Given the description of an element on the screen output the (x, y) to click on. 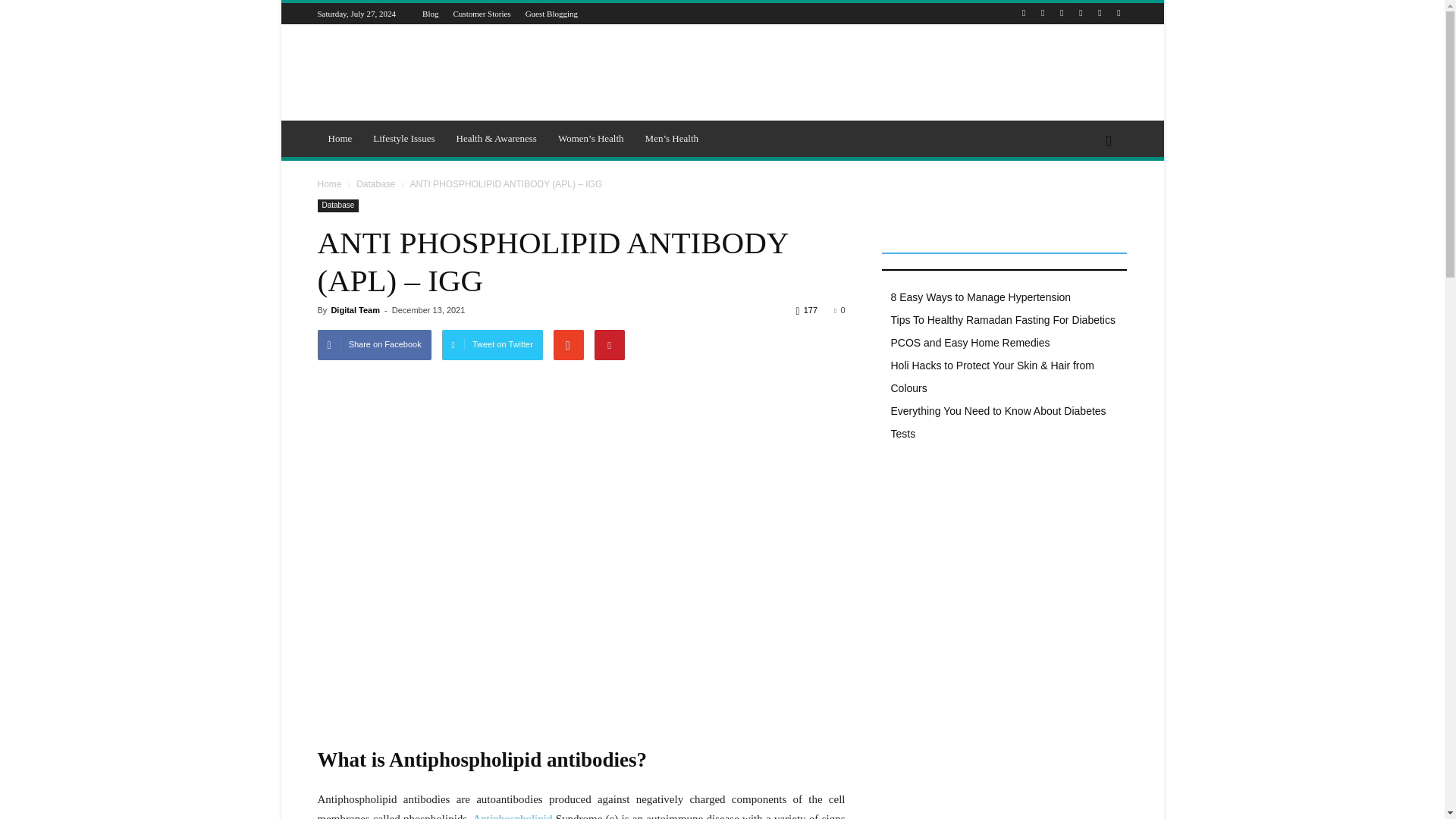
Guest Blogging (551, 13)
Lifestyle Issues (403, 138)
Database (376, 184)
Digital Team (355, 309)
Home (330, 184)
View all posts in Database (376, 184)
Home (339, 138)
Customer Stories (481, 13)
Database (337, 205)
Blog (430, 13)
